Given the description of an element on the screen output the (x, y) to click on. 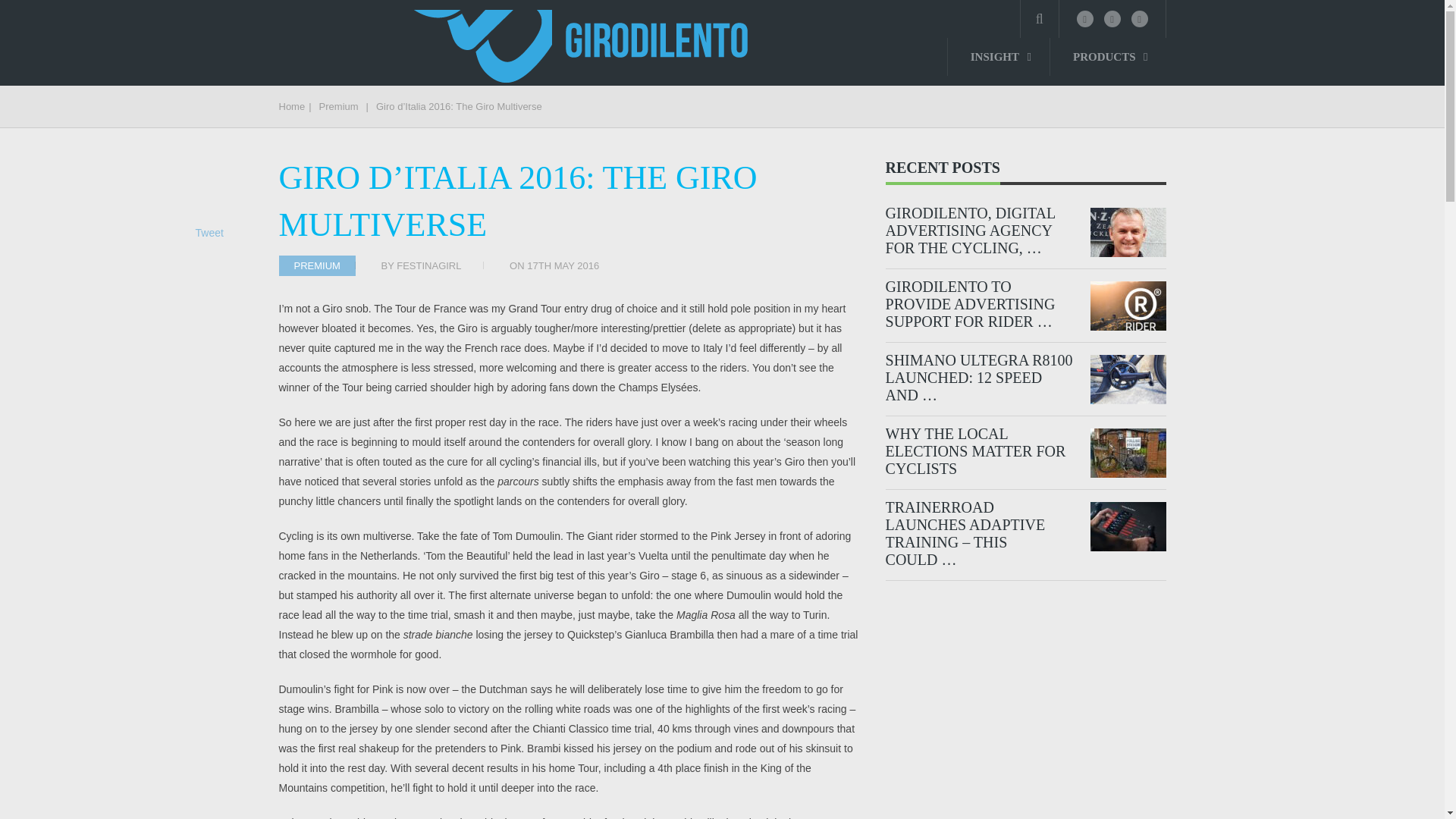
Premium (338, 106)
PRODUCTS (1107, 56)
Tweet (209, 232)
Home (292, 106)
WHY THE LOCAL ELECTIONS MATTER FOR CYCLISTS (980, 451)
INSIGHT (998, 56)
Why the Local Elections matter for cyclists (980, 451)
